Given the description of an element on the screen output the (x, y) to click on. 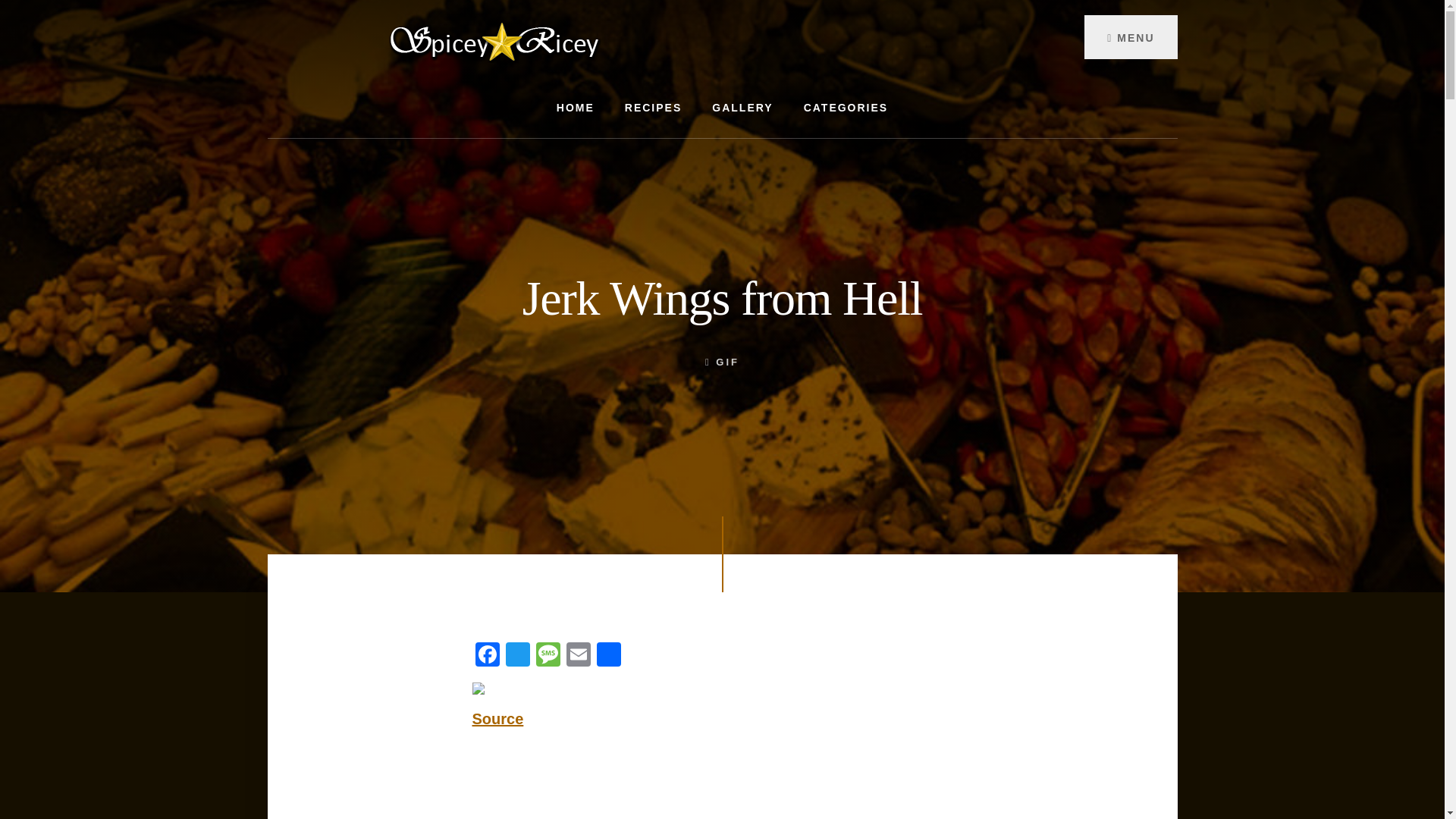
Twitter (517, 656)
Message (547, 656)
Email (577, 656)
HOME (575, 106)
Facebook (486, 656)
MENU (1130, 36)
GIF (727, 361)
Share (607, 656)
CATEGORIES (846, 106)
Message (547, 656)
Twitter (517, 656)
Facebook (486, 656)
RECIPES (653, 106)
Email (577, 656)
